Given the description of an element on the screen output the (x, y) to click on. 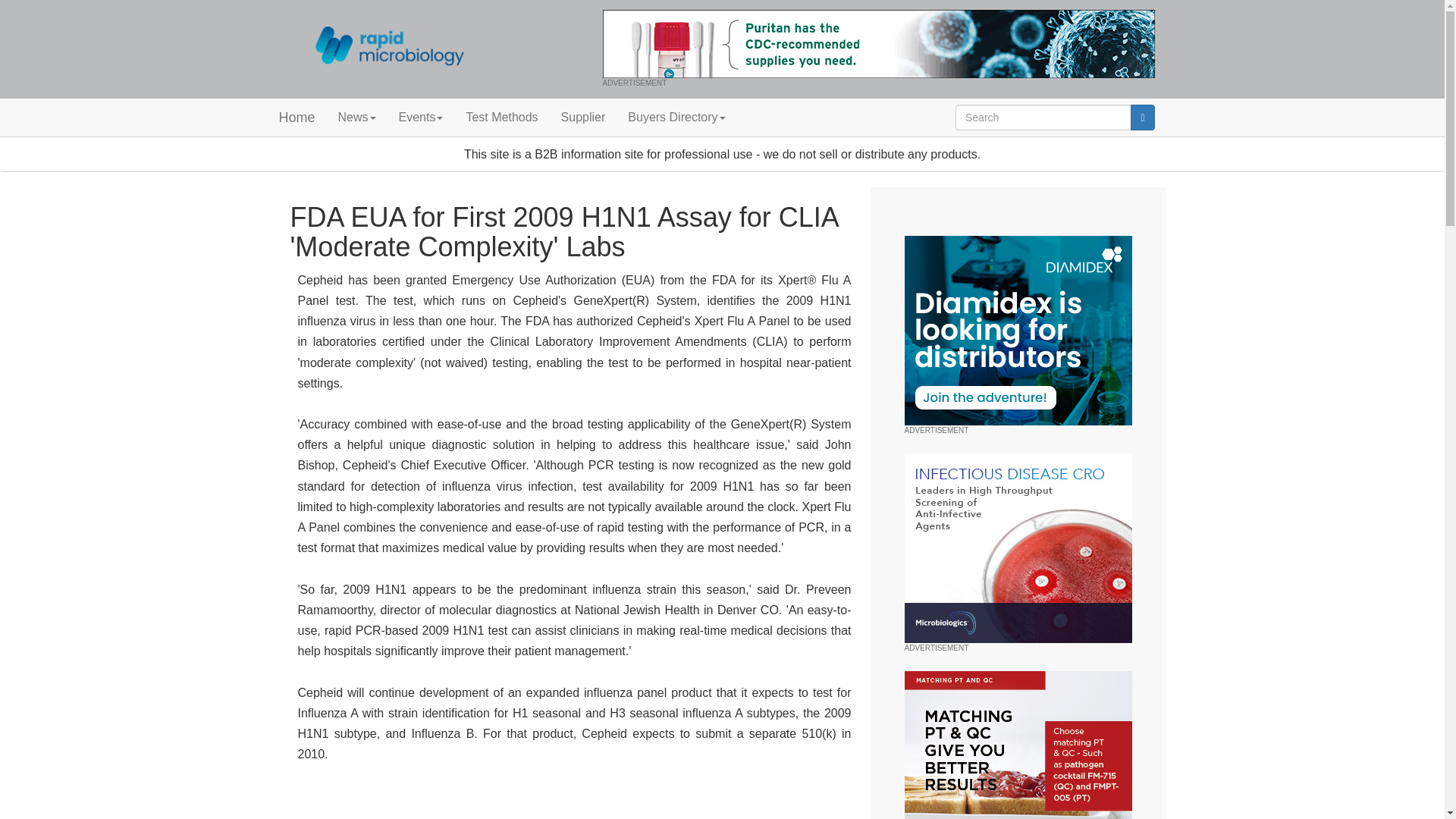
Test Methods (501, 117)
Events (420, 117)
Buyers Directory (675, 117)
Supplier (583, 117)
News (356, 117)
Home (296, 117)
